Given the description of an element on the screen output the (x, y) to click on. 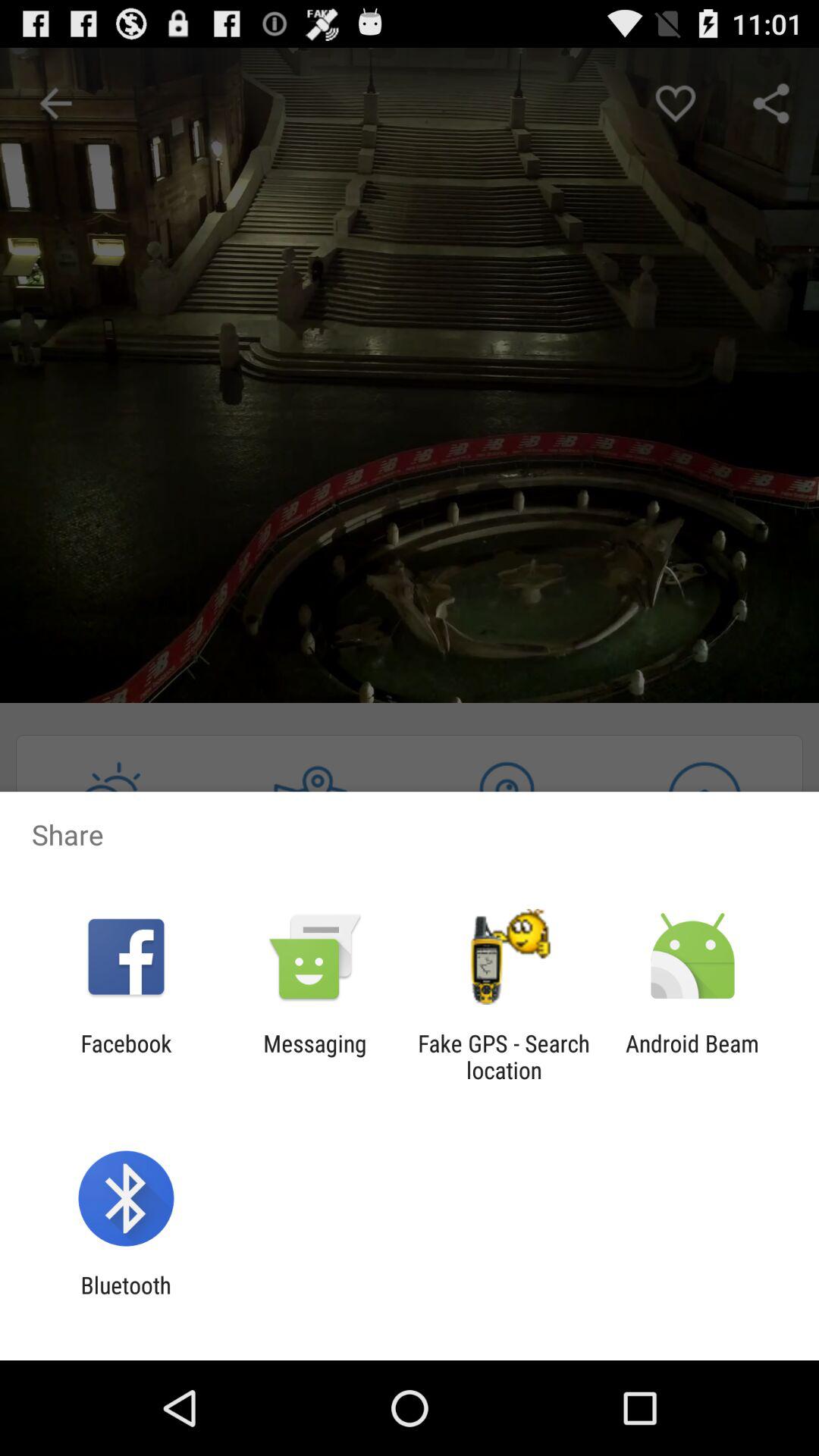
choose the icon to the right of the messaging item (503, 1056)
